Given the description of an element on the screen output the (x, y) to click on. 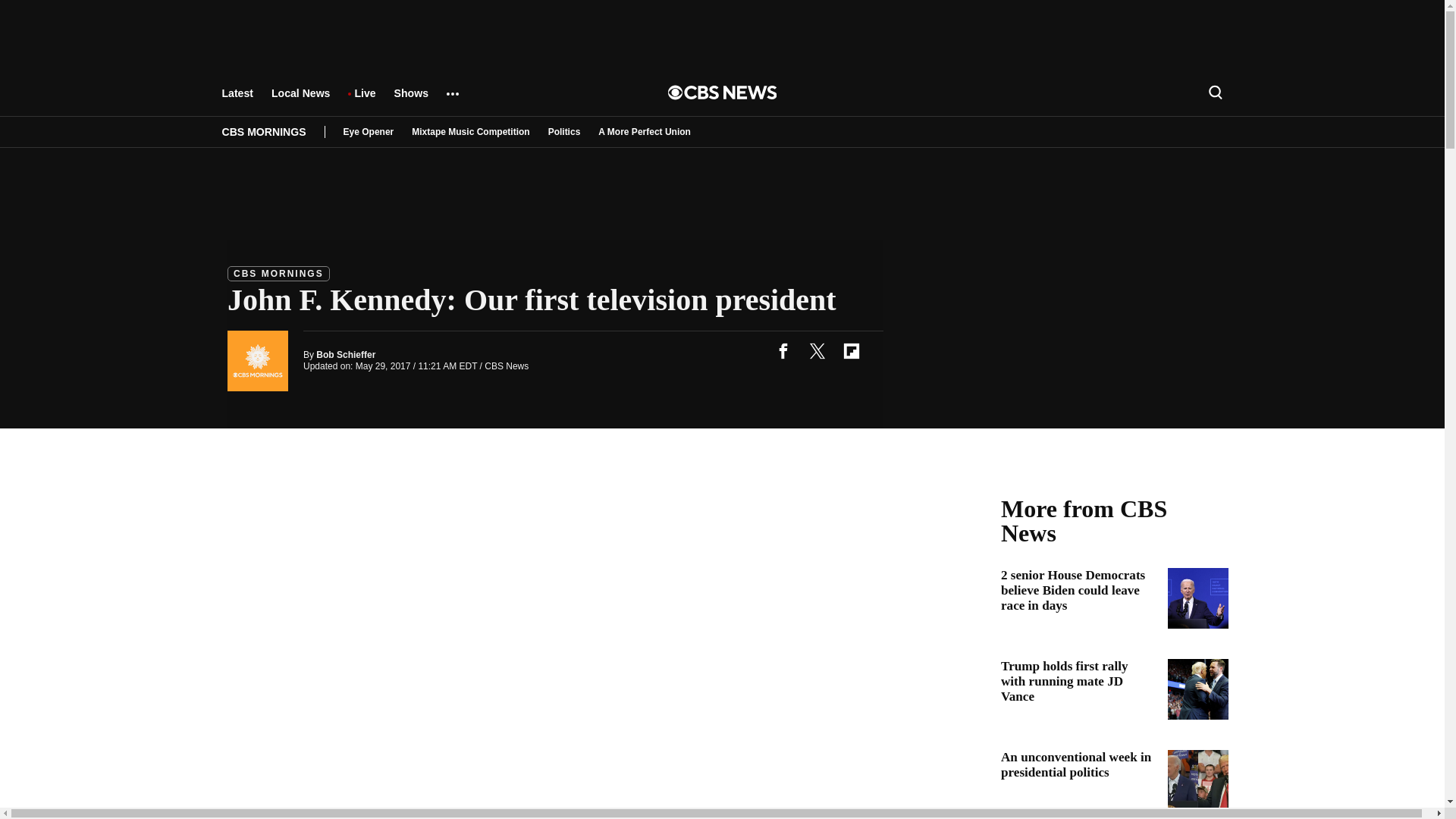
flipboard (850, 350)
Local News (300, 100)
twitter (816, 350)
facebook (782, 350)
Latest (236, 100)
